Given the description of an element on the screen output the (x, y) to click on. 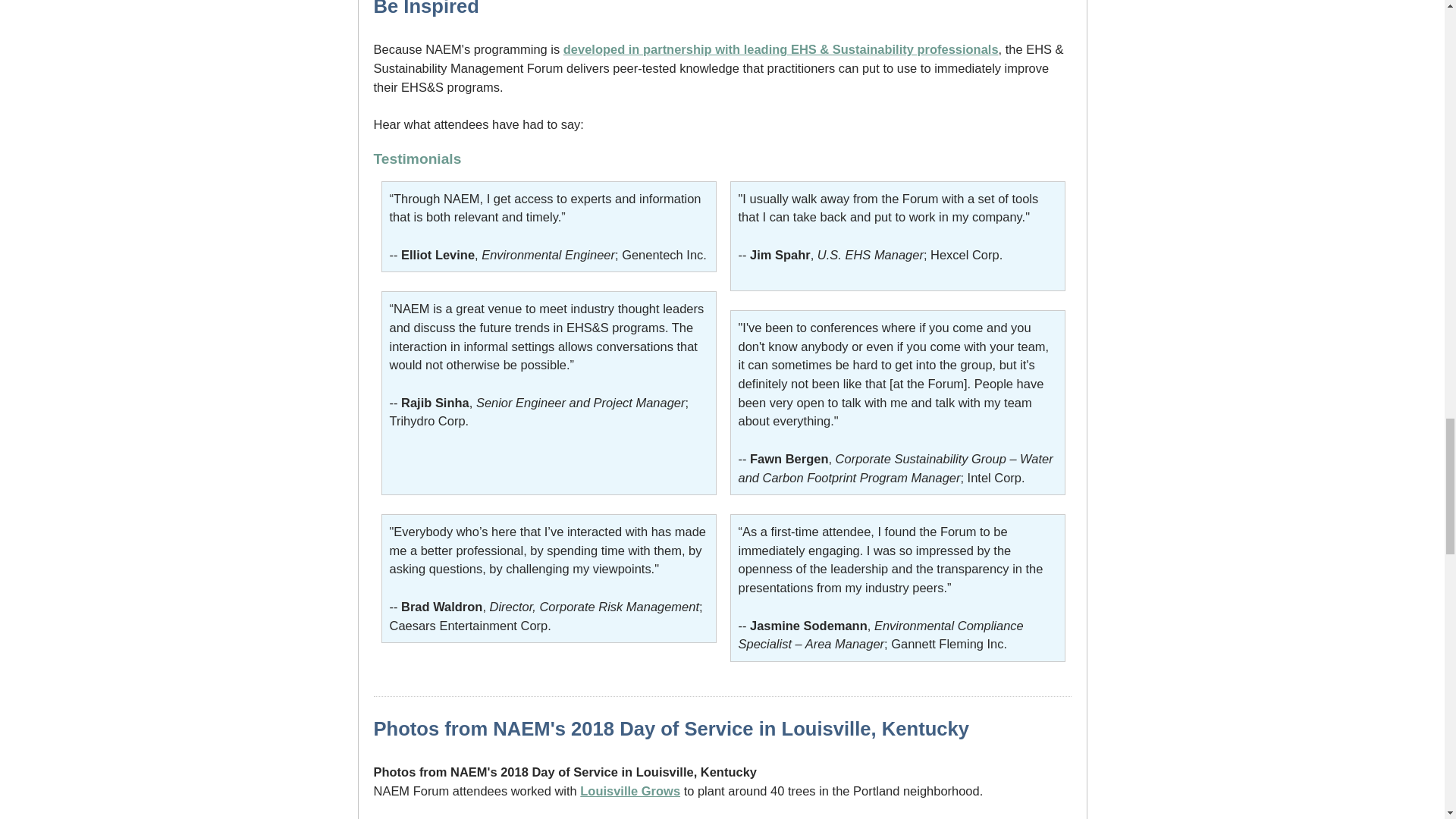
Louisville Grows (629, 790)
